Given the description of an element on the screen output the (x, y) to click on. 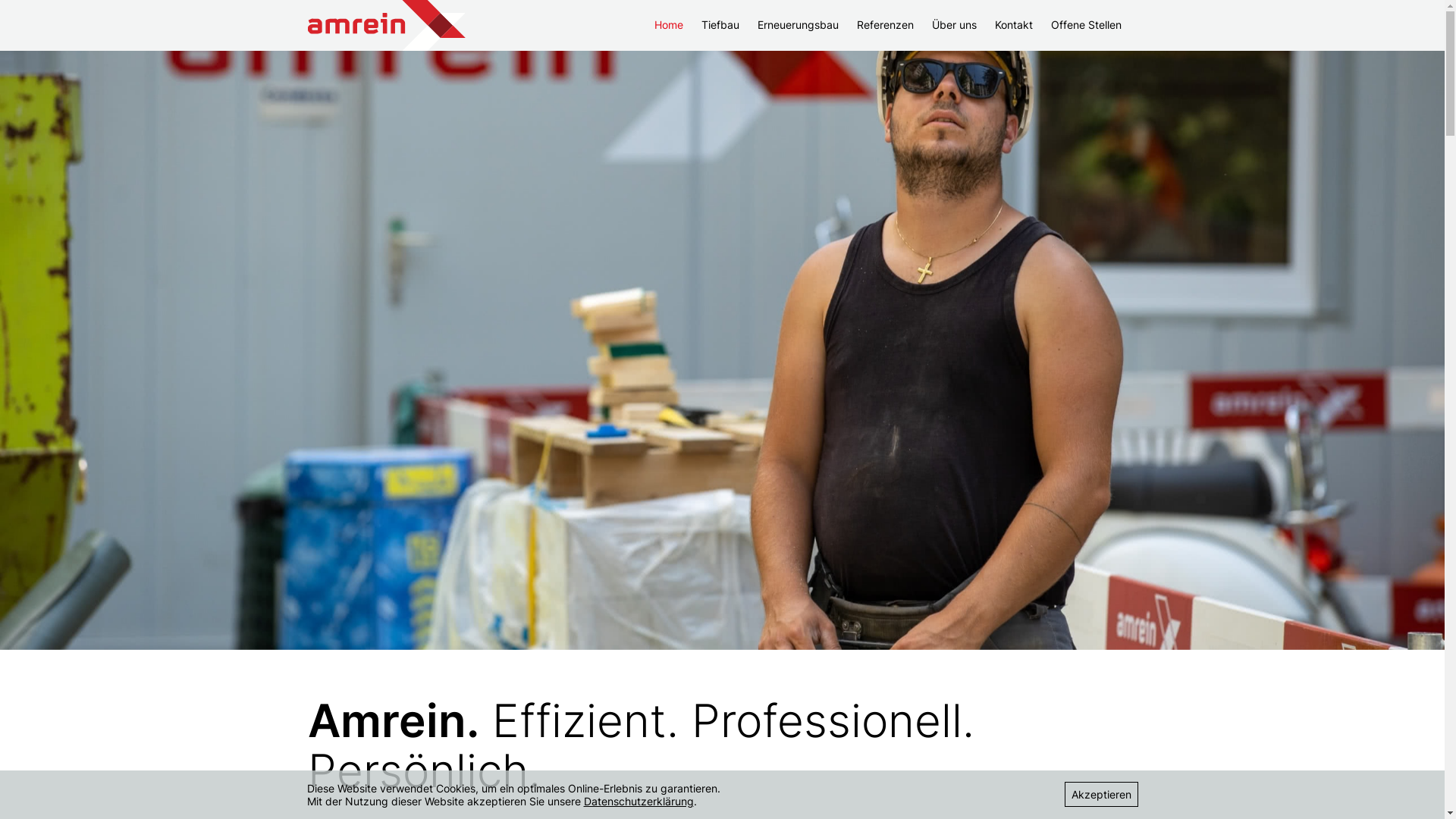
Kontakt Element type: text (1013, 24)
Home Element type: text (668, 24)
Erneuerungsbau Element type: text (797, 24)
Referenzen Element type: text (884, 24)
Offene Stellen Element type: text (1086, 24)
Tiefbau Element type: text (720, 24)
Akzeptieren Element type: text (1101, 793)
